Given the description of an element on the screen output the (x, y) to click on. 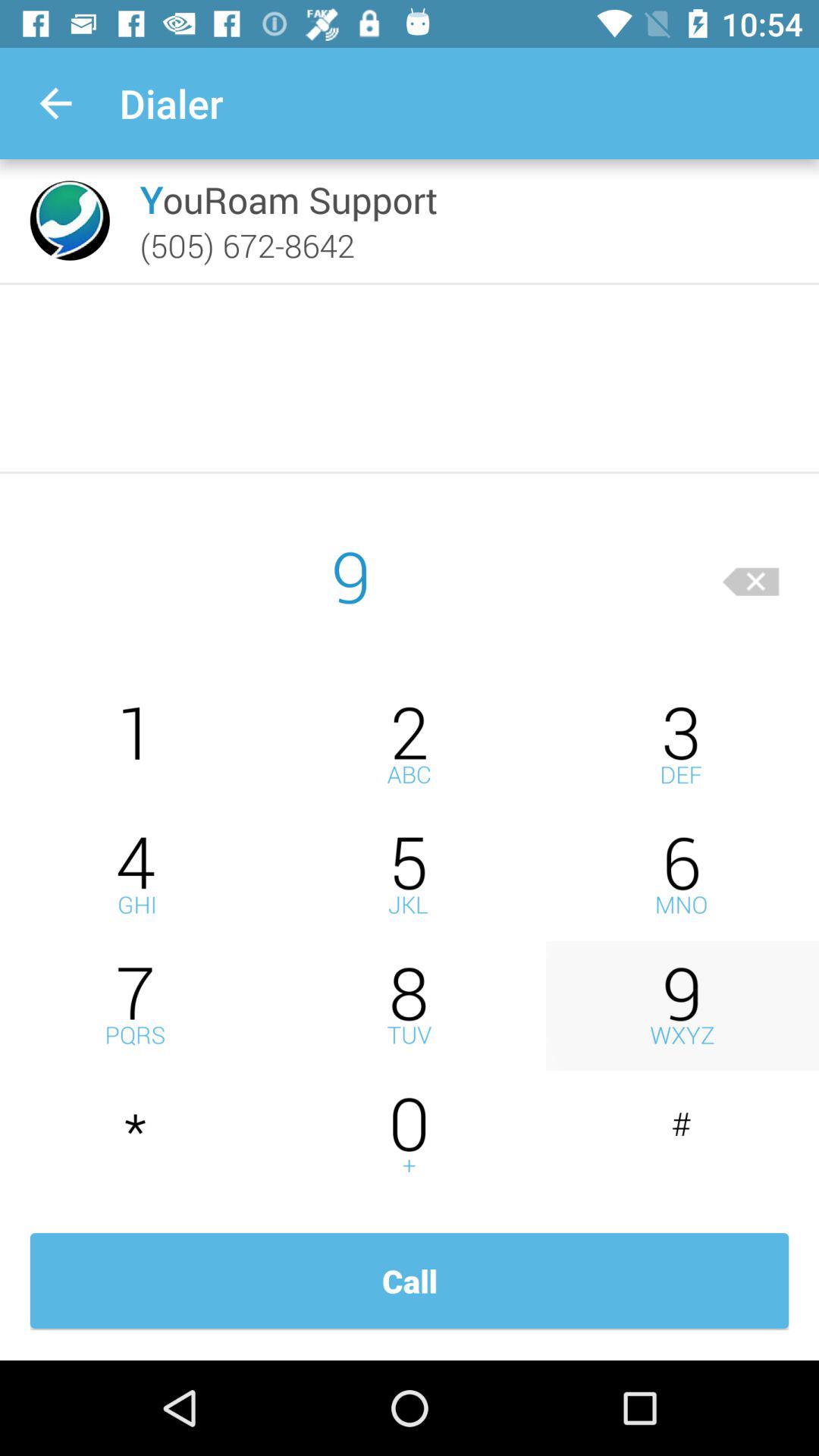
enter seven (136, 1005)
